Given the description of an element on the screen output the (x, y) to click on. 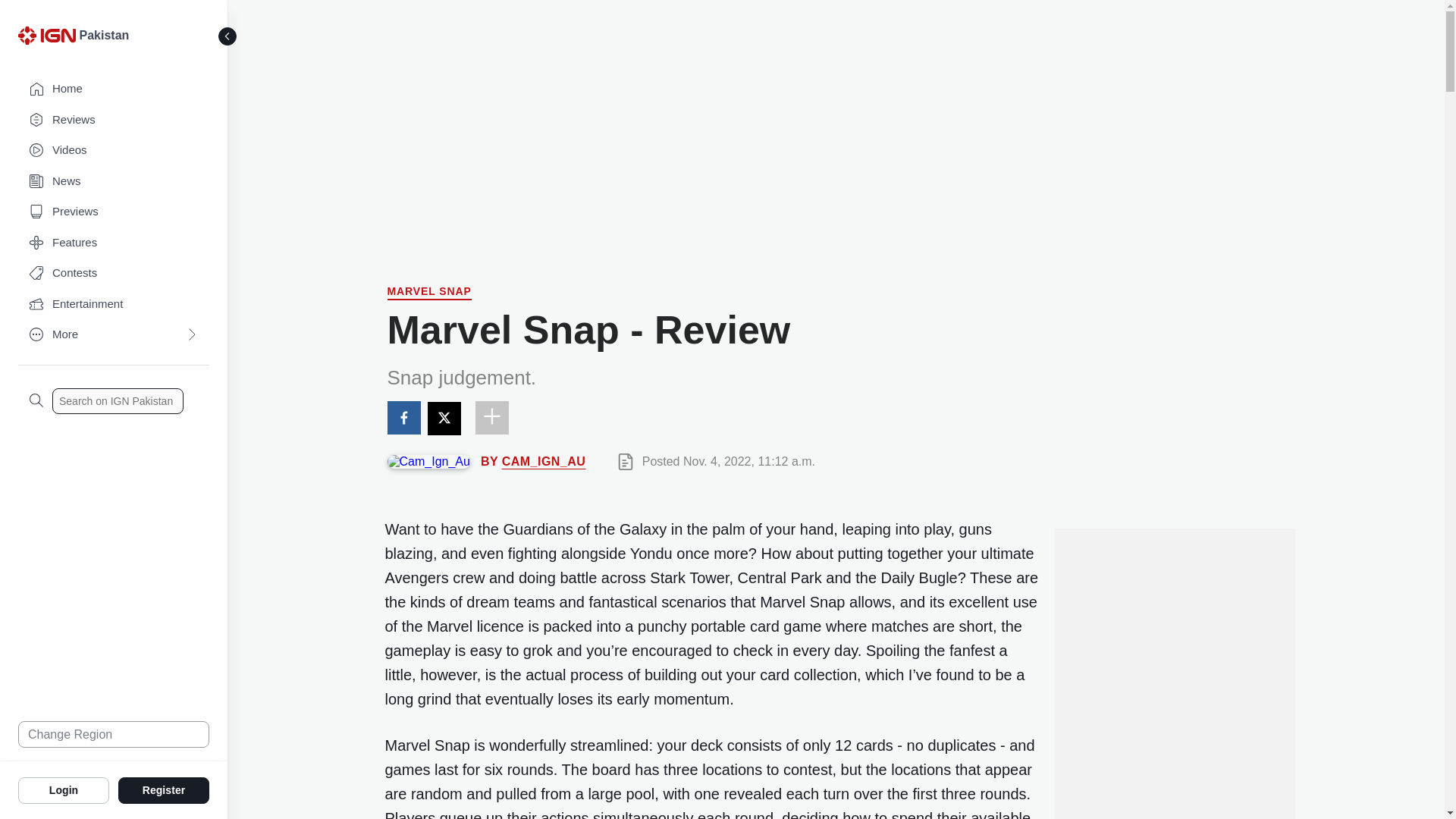
Features (113, 242)
Register (163, 789)
IGN Logo (48, 39)
Login (63, 789)
Videos (113, 150)
Marvel Snap (428, 292)
Toggle Sidebar (226, 36)
Entertainment (113, 304)
More (113, 334)
News (113, 181)
Contests (113, 273)
Home (113, 89)
Reviews (113, 119)
MARVEL SNAP (428, 292)
Previews (113, 211)
